Given the description of an element on the screen output the (x, y) to click on. 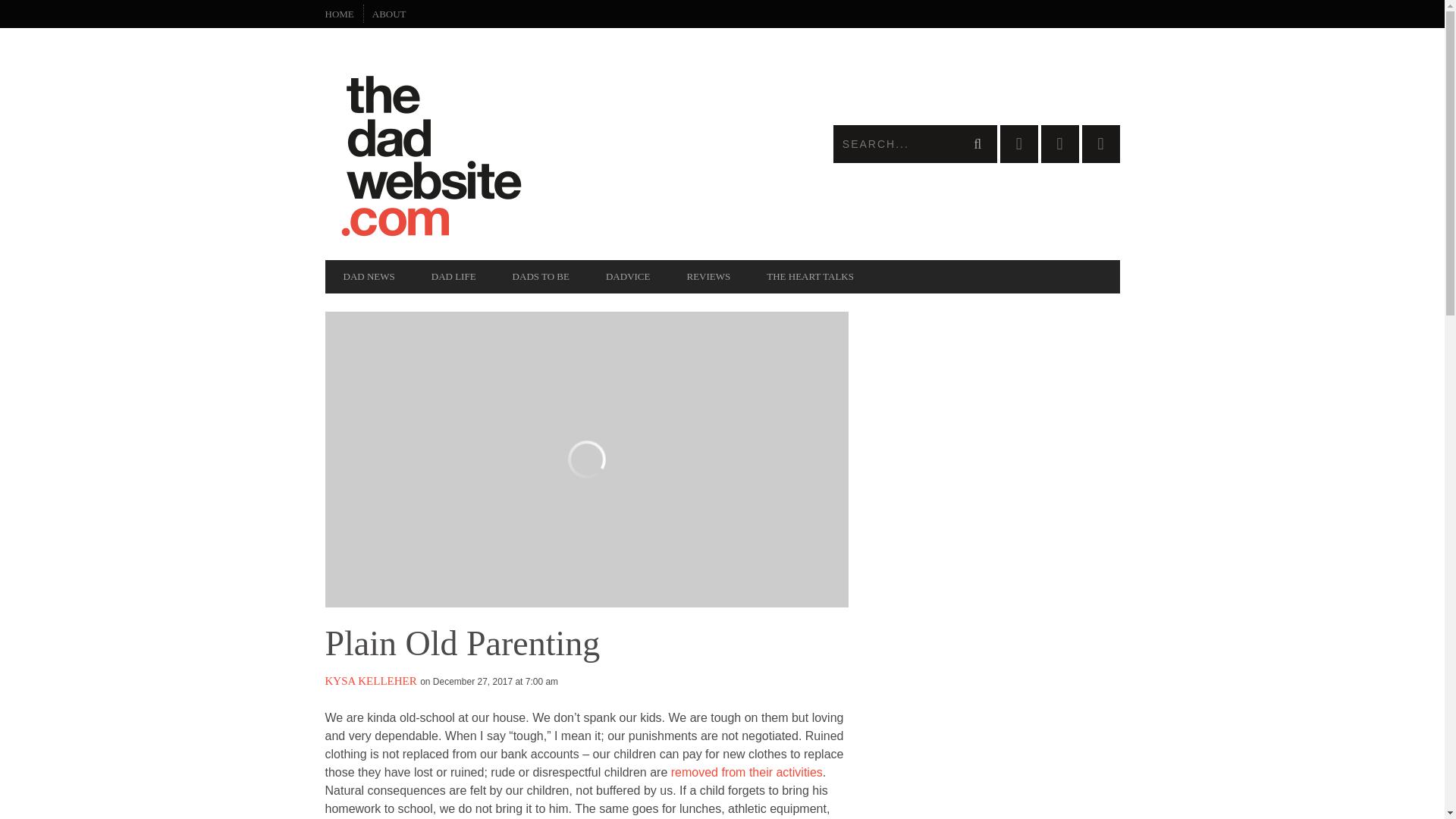
Posts by Kysa Kelleher (370, 680)
The Dad Website (523, 143)
ABOUT (388, 13)
DAD NEWS (368, 276)
HOME (338, 13)
